Given the description of an element on the screen output the (x, y) to click on. 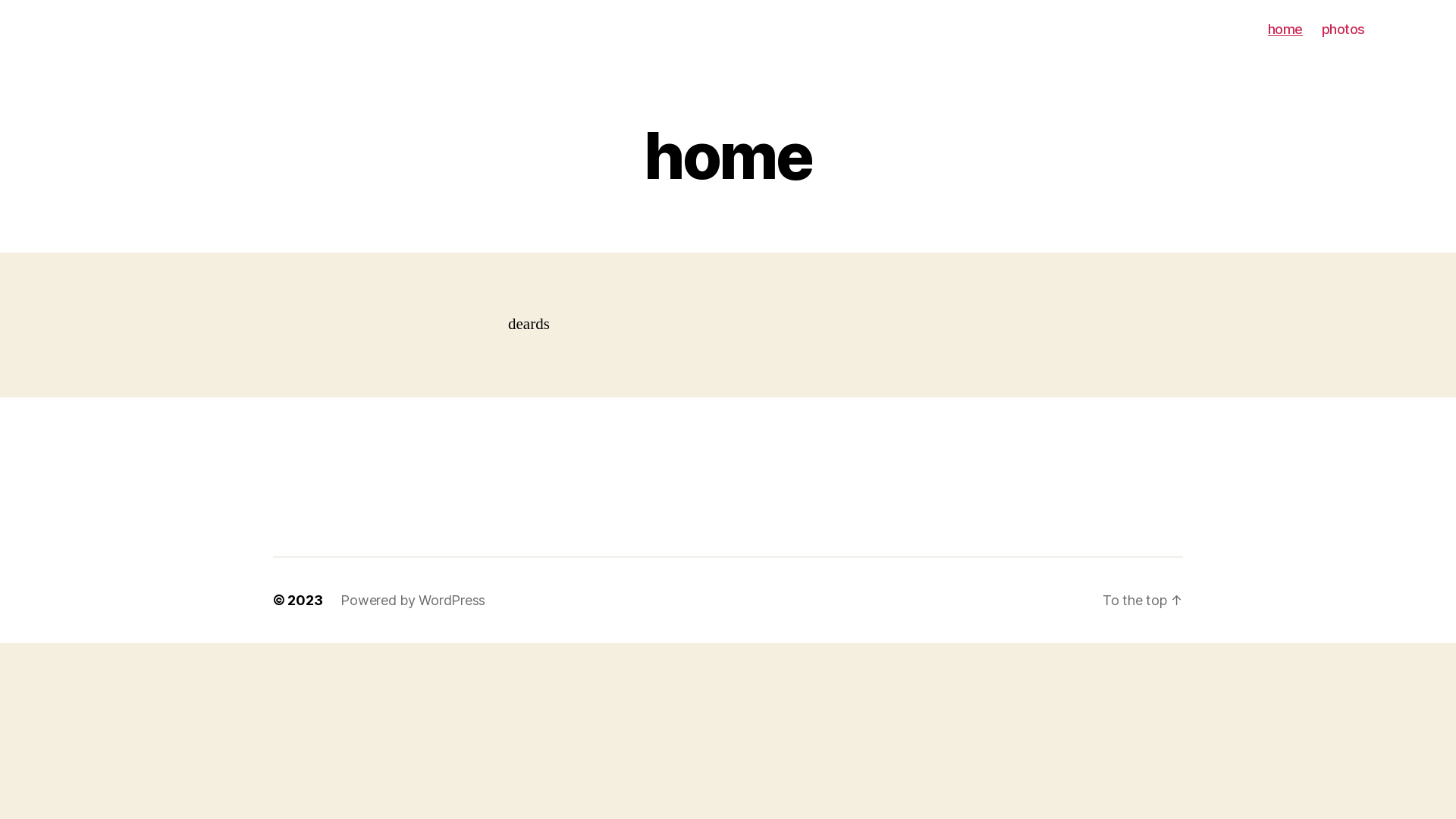
Powered by WordPress Element type: text (412, 600)
home Element type: text (1284, 29)
photos Element type: text (1343, 29)
